Given the description of an element on the screen output the (x, y) to click on. 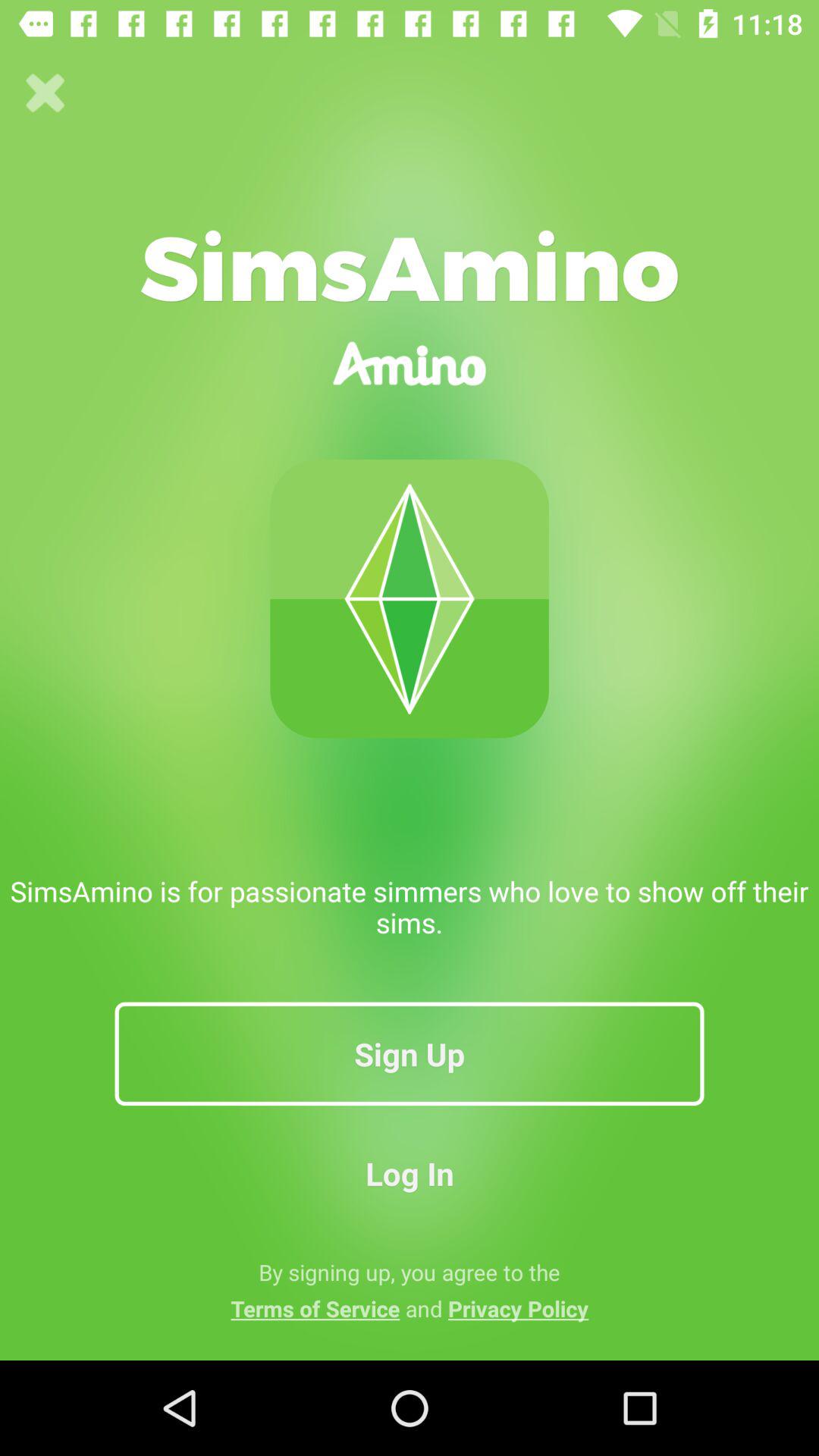
press the icon above simsamino is for icon (45, 93)
